Given the description of an element on the screen output the (x, y) to click on. 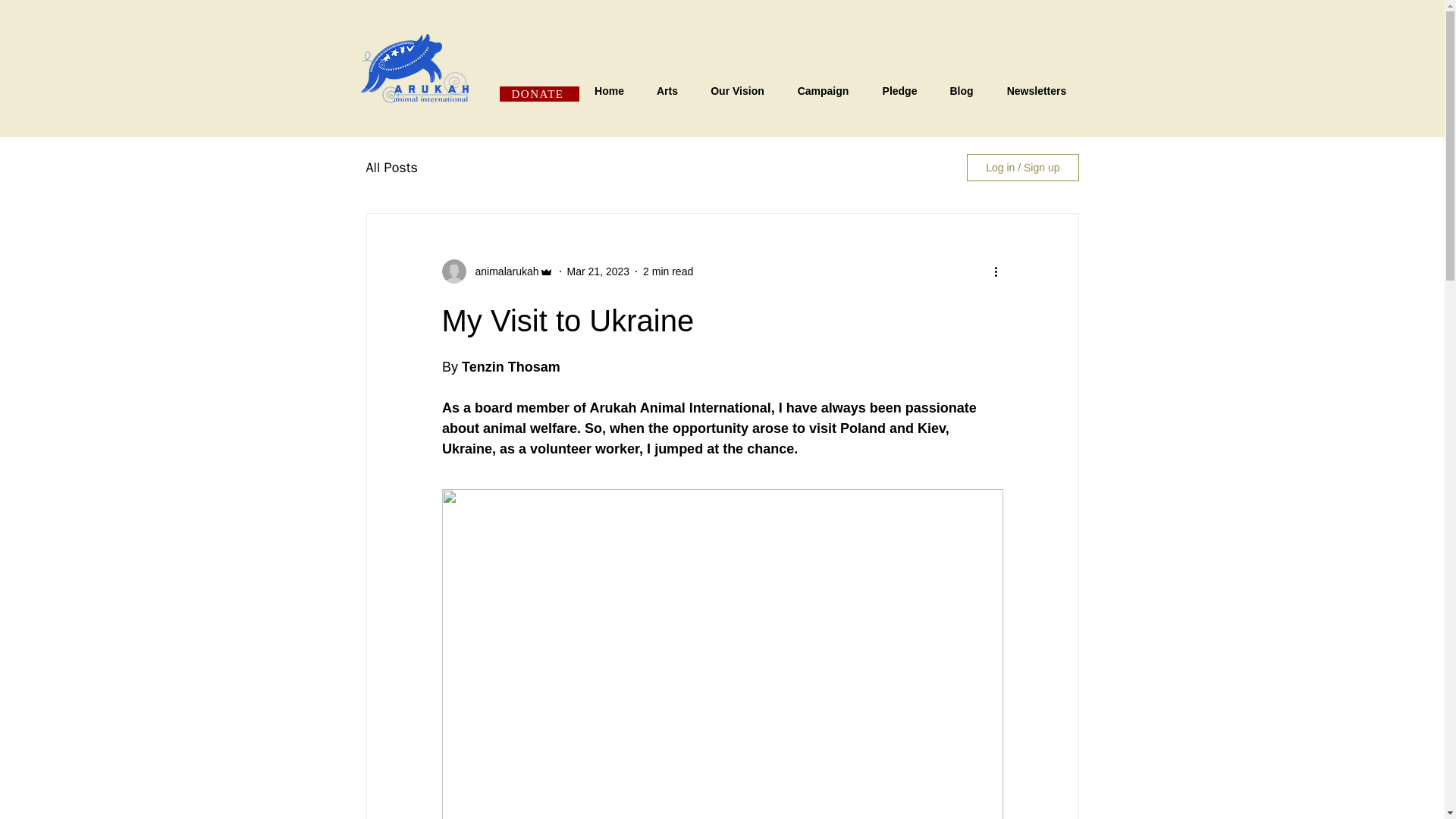
animalarukah (501, 271)
Pledge (900, 91)
DONATE (538, 93)
2 min read (668, 271)
All Posts (390, 167)
Blog (962, 91)
Arts (667, 91)
Campaign (823, 91)
Home (609, 91)
Newsletters (1035, 91)
Our Vision (737, 91)
Mar 21, 2023 (598, 271)
